Given the description of an element on the screen output the (x, y) to click on. 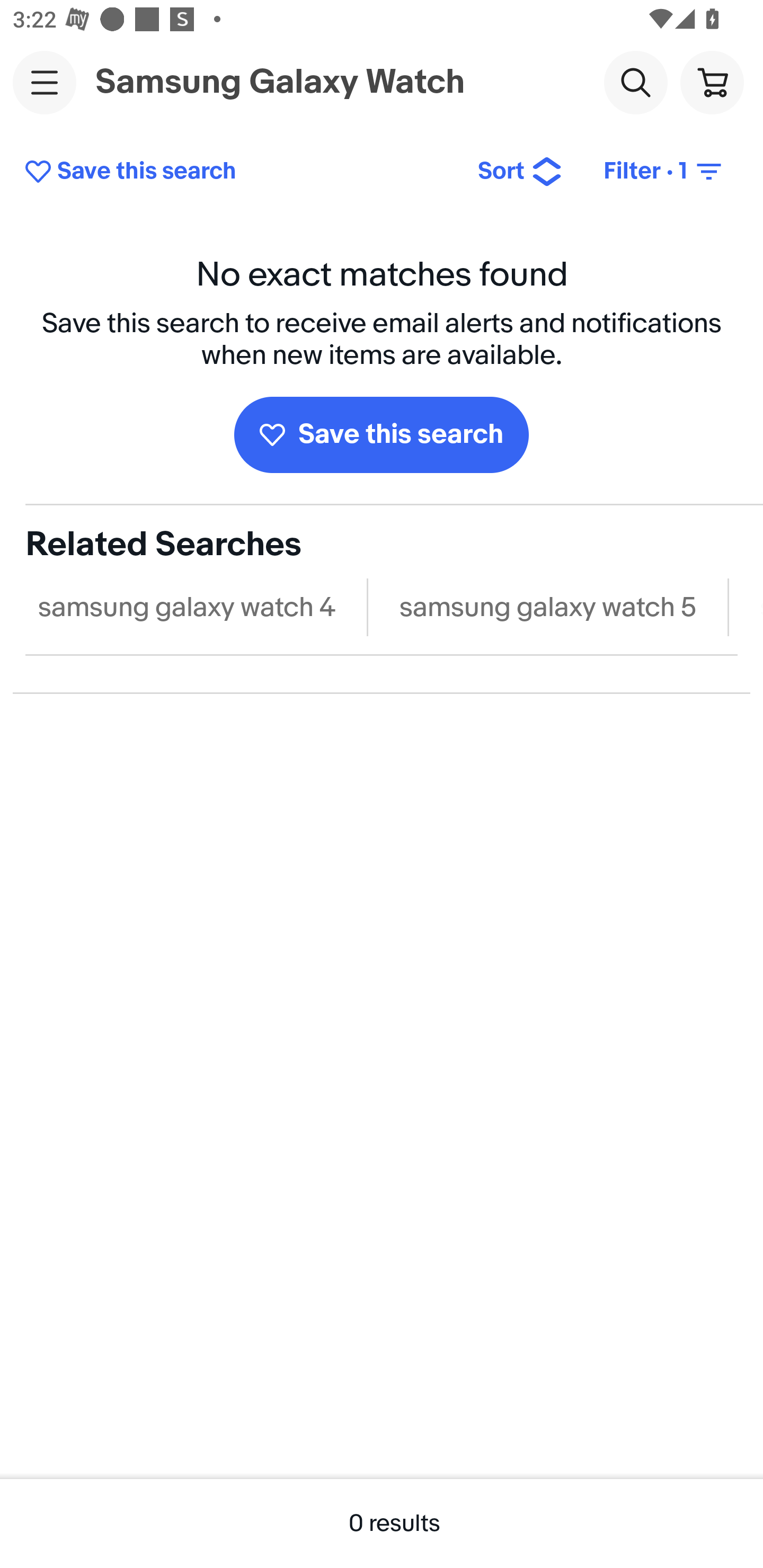
Main navigation, open (44, 82)
Search (635, 81)
Cart button shopping cart (711, 81)
Save this search (237, 171)
Sort (520, 171)
Filter • 1 Filter (1 applied) (663, 171)
Save this search (381, 434)
samsung galaxy watch 4 (186, 607)
samsung galaxy watch 5 (547, 607)
